Given the description of an element on the screen output the (x, y) to click on. 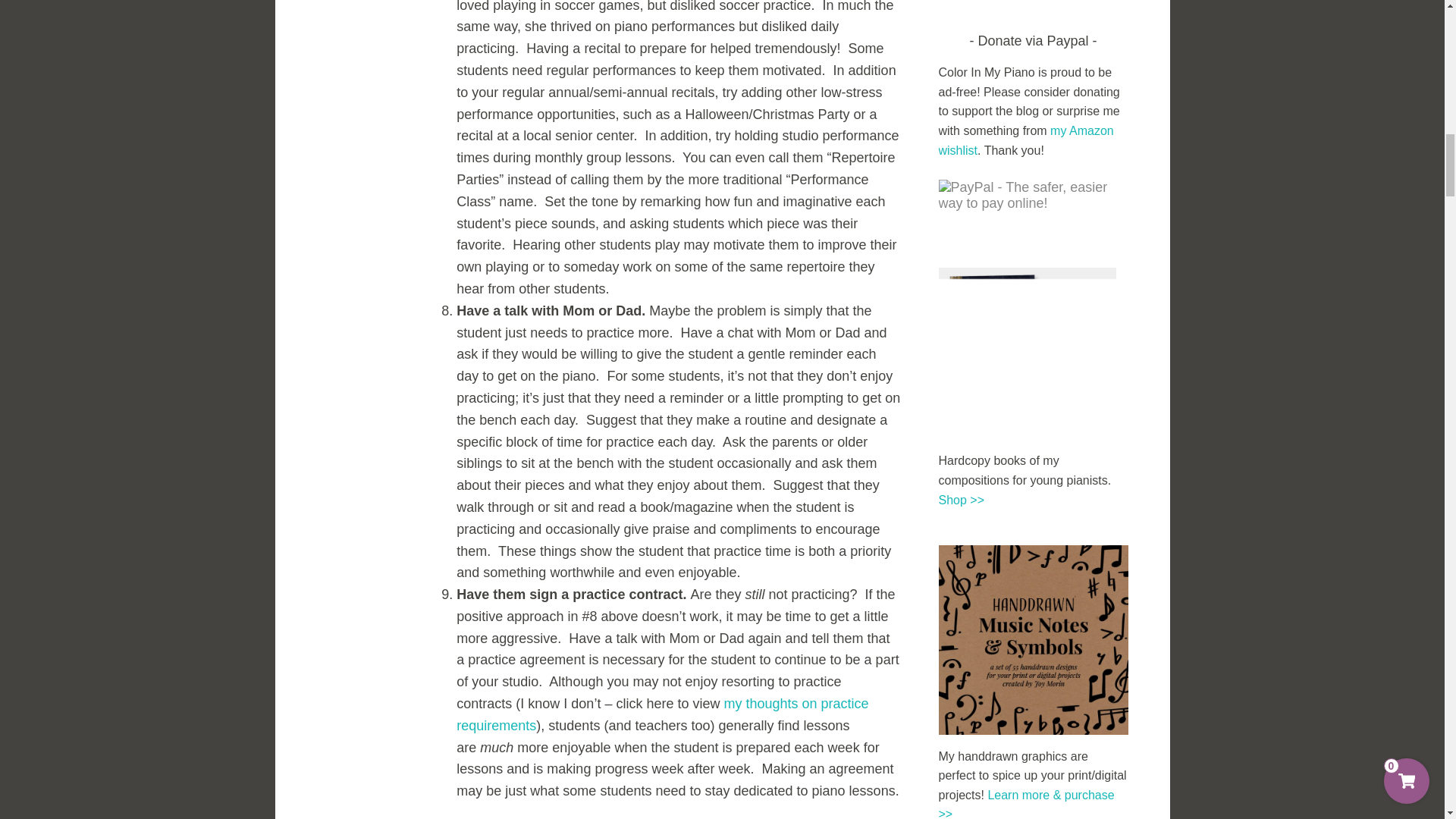
my thoughts on practice requirements (662, 714)
